Given the description of an element on the screen output the (x, y) to click on. 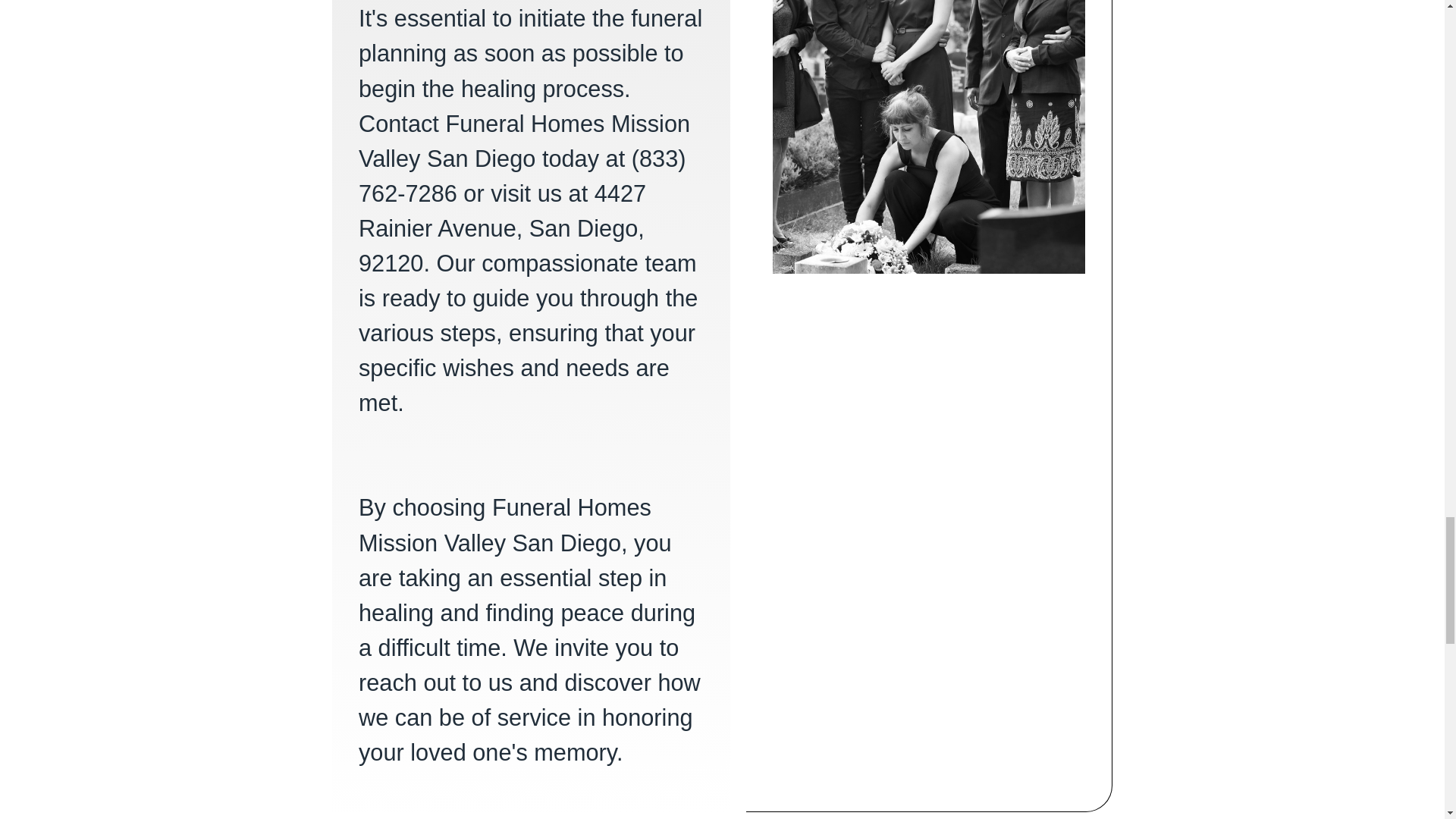
Funeral Homes Mission Valley San Diego (928, 136)
